Given the description of an element on the screen output the (x, y) to click on. 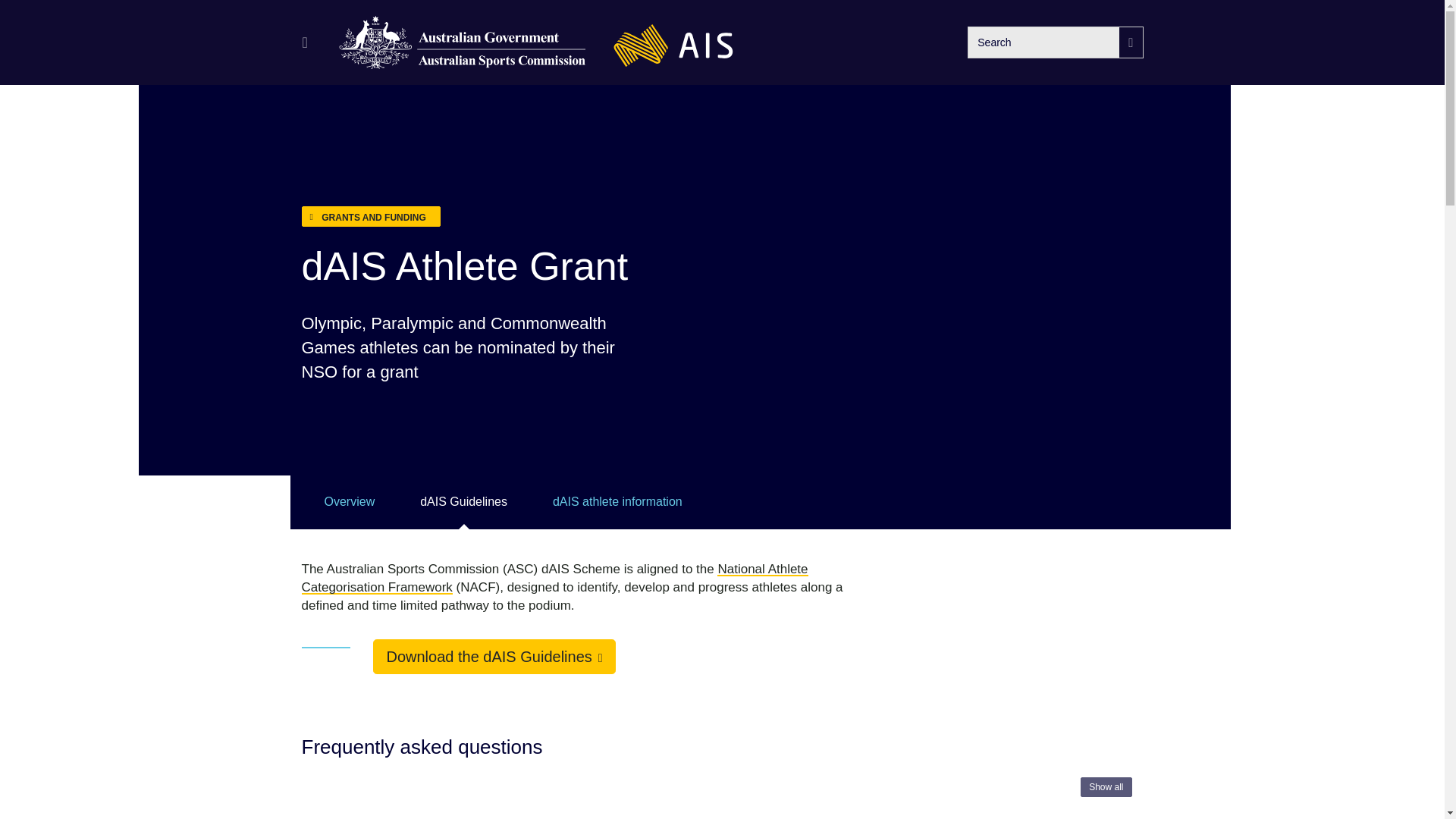
Skip to content (22, 22)
Australian Sports Commission (462, 42)
Australian Institute of Sport (672, 42)
